Given the description of an element on the screen output the (x, y) to click on. 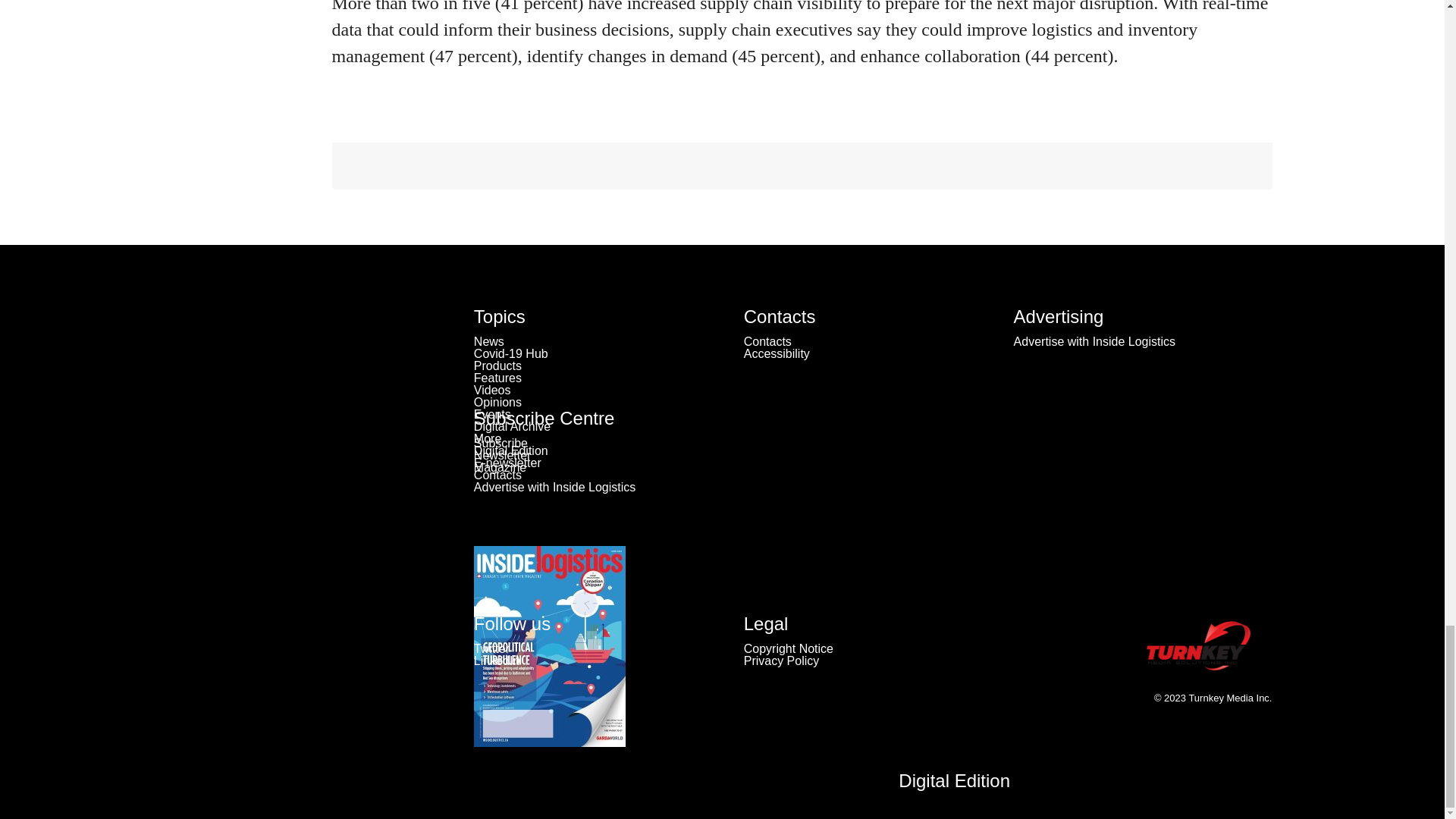
Magazine (499, 467)
Newsletter (502, 454)
Digital Edition (954, 780)
Subscribe (500, 442)
